Given the description of an element on the screen output the (x, y) to click on. 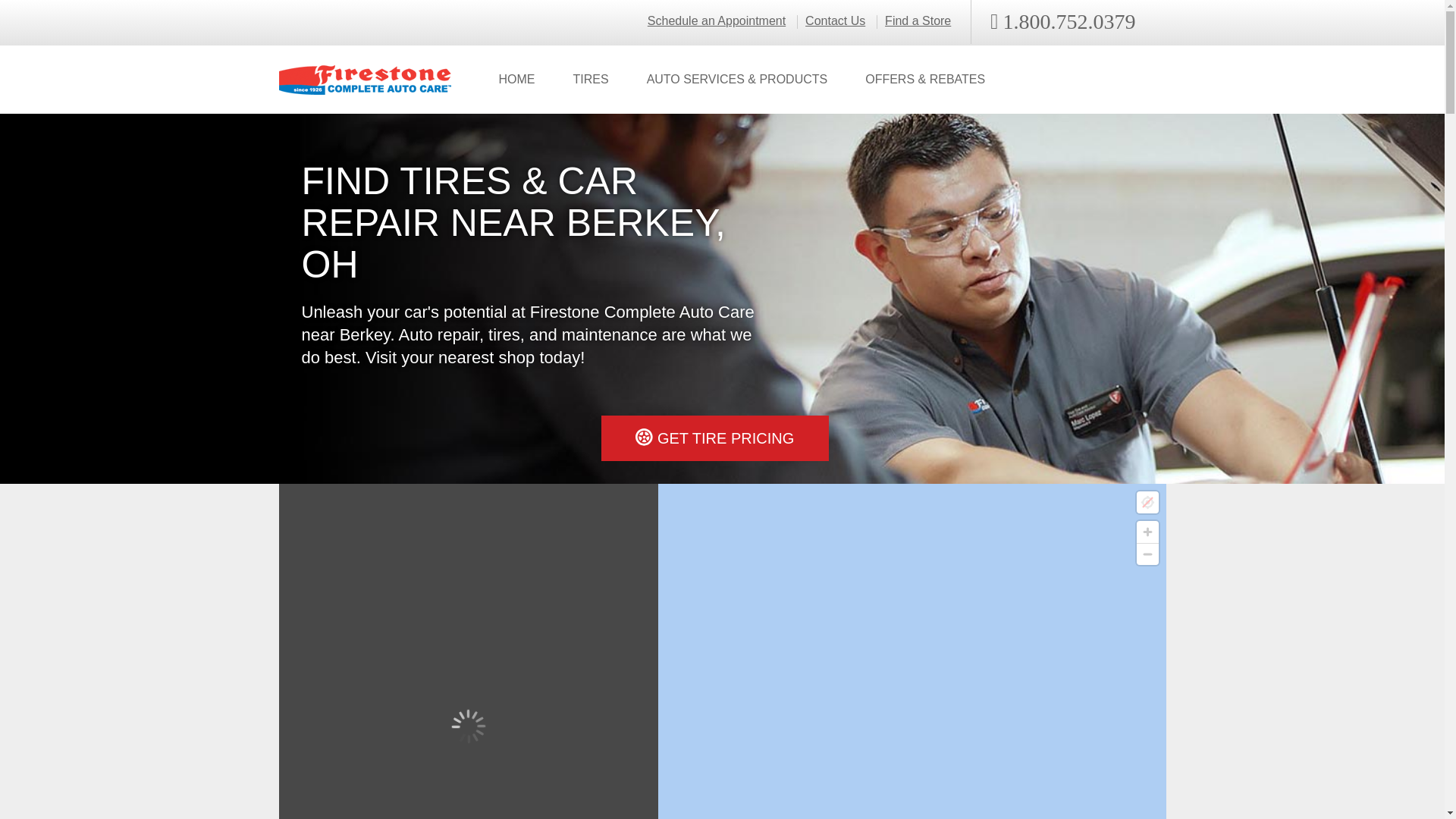
Contact Us (834, 20)
Find a Store (918, 20)
Schedule an Appointment (716, 20)
1.800.752.0379 (1062, 22)
Zoom in (1146, 531)
HOME (516, 79)
GET TIRE PRICING (713, 438)
Find my location (1146, 502)
TIRES (590, 79)
Zoom out (1146, 554)
Firestone Complete Auto Care (365, 80)
